Given the description of an element on the screen output the (x, y) to click on. 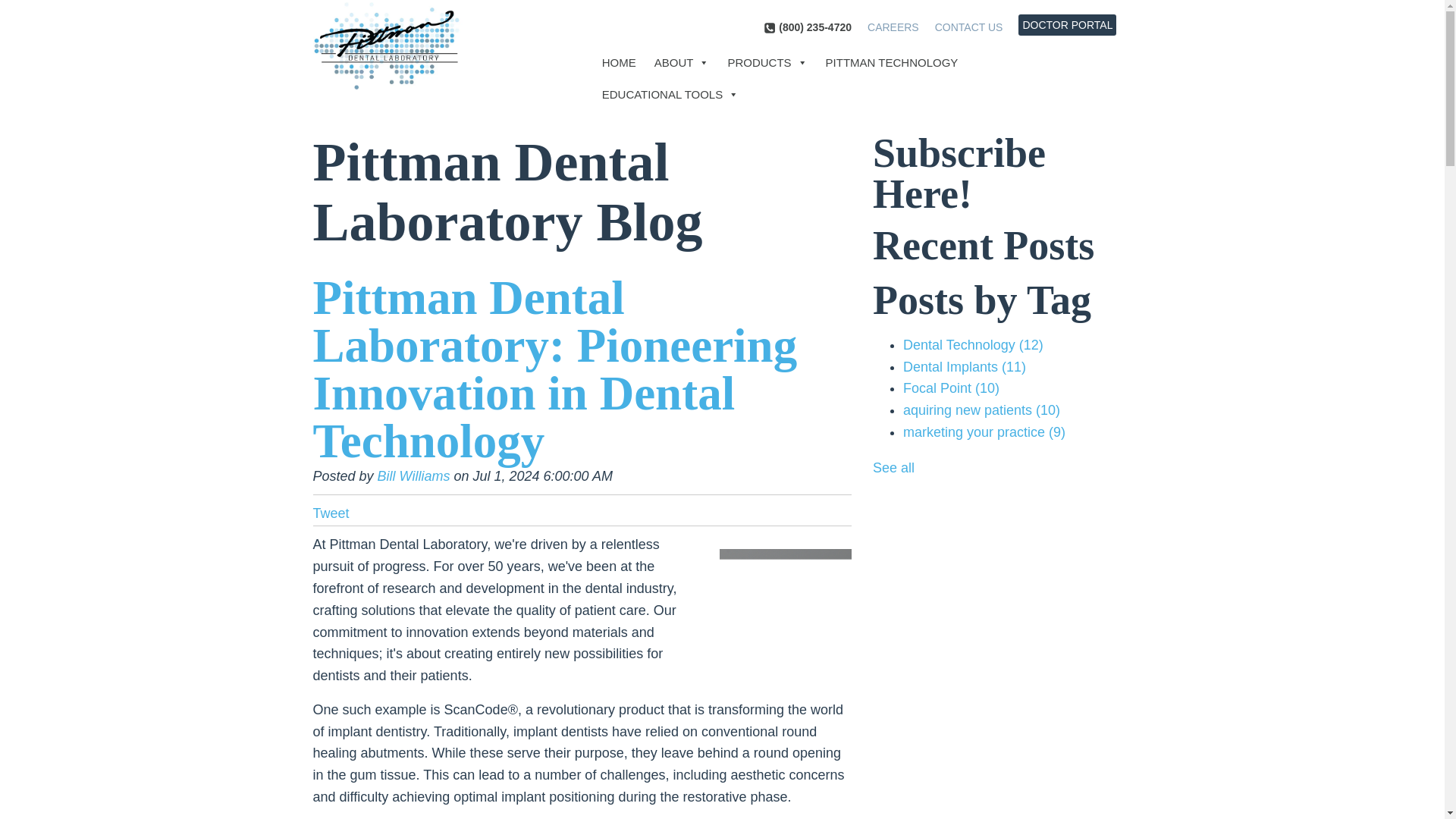
PHONE-SQUARE (769, 28)
EDUCATIONAL TOOLS (670, 94)
PRODUCTS (766, 62)
PITTMAN TECHNOLOGY (892, 62)
CAREERS (892, 27)
HOME (618, 62)
DOCTOR PORTAL (1067, 24)
CONTACT US (968, 27)
ABOUT (682, 62)
